Given the description of an element on the screen output the (x, y) to click on. 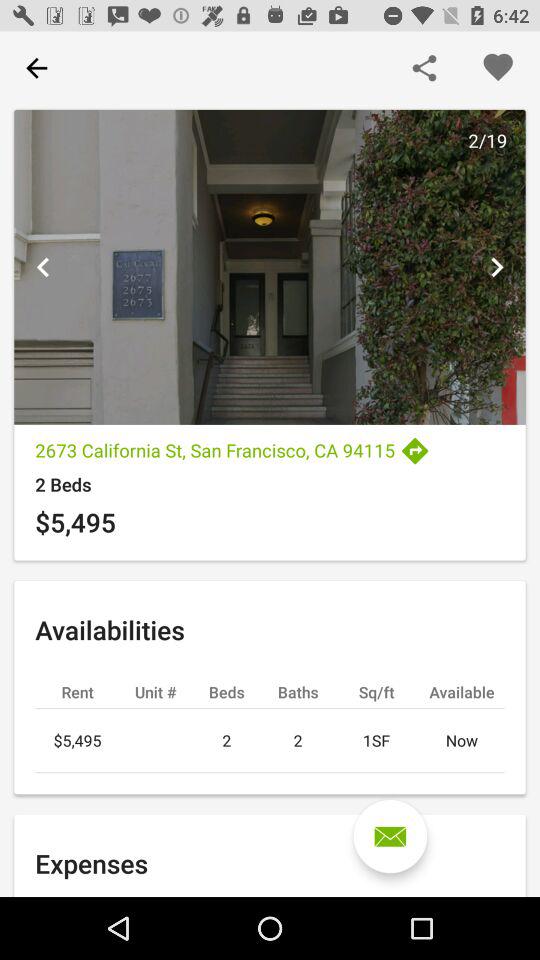
mail somebody (389, 836)
